Given the description of an element on the screen output the (x, y) to click on. 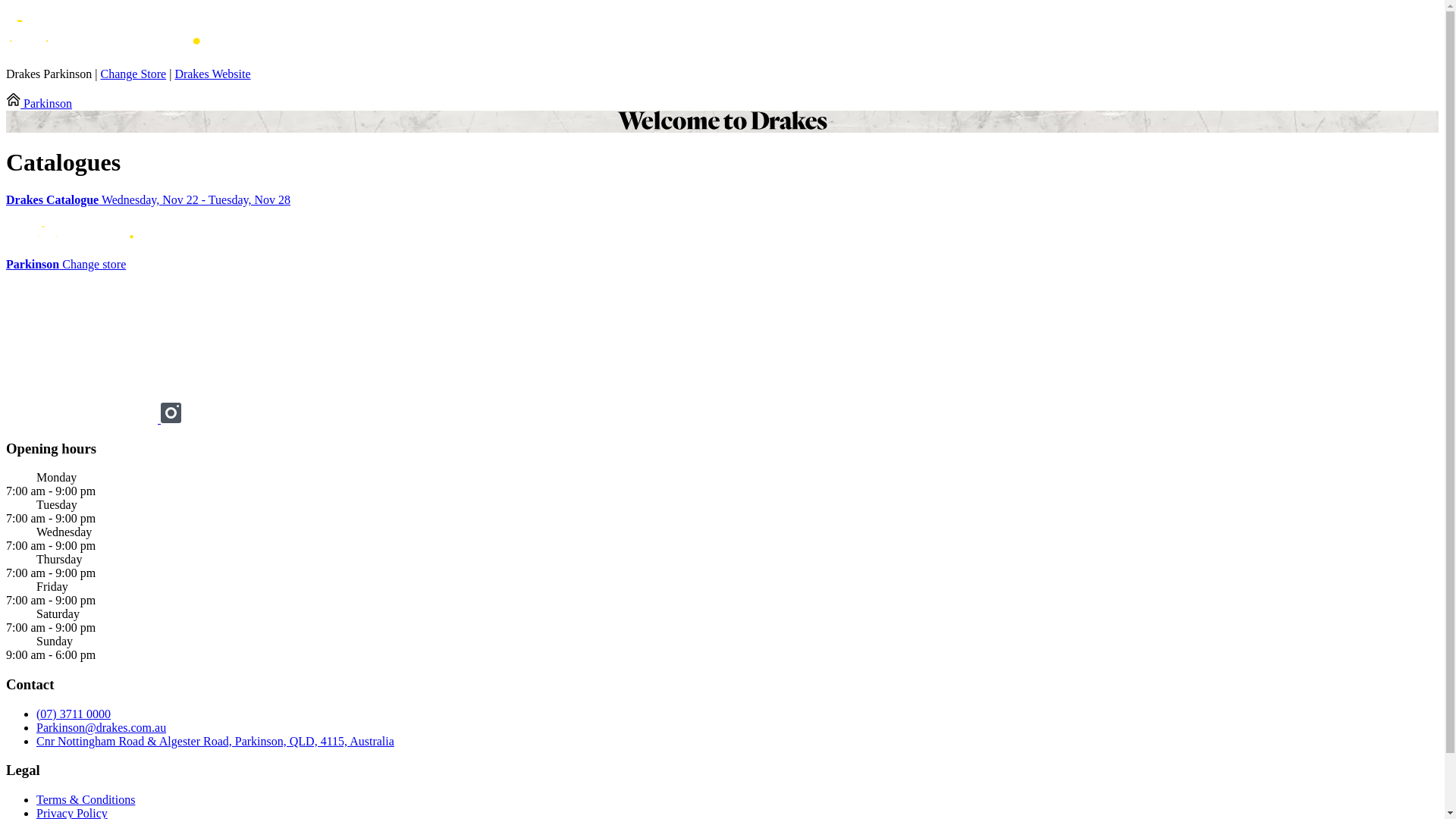
Drakes Catalogue Wednesday, Nov 22 - Tuesday, Nov 28 Element type: text (722, 199)
Parkinson@drakes.com.au Element type: text (101, 727)
Parkinson Change store Element type: text (65, 263)
Drakes Website Element type: text (212, 73)
Facebook Element type: hover (83, 418)
Parkinson Element type: text (39, 103)
Instagram drakessupermarkets Element type: hover (170, 418)
Terms & Conditions Element type: text (85, 799)
Change Store Element type: text (133, 73)
(07) 3711 0000 Element type: text (73, 713)
